Given the description of an element on the screen output the (x, y) to click on. 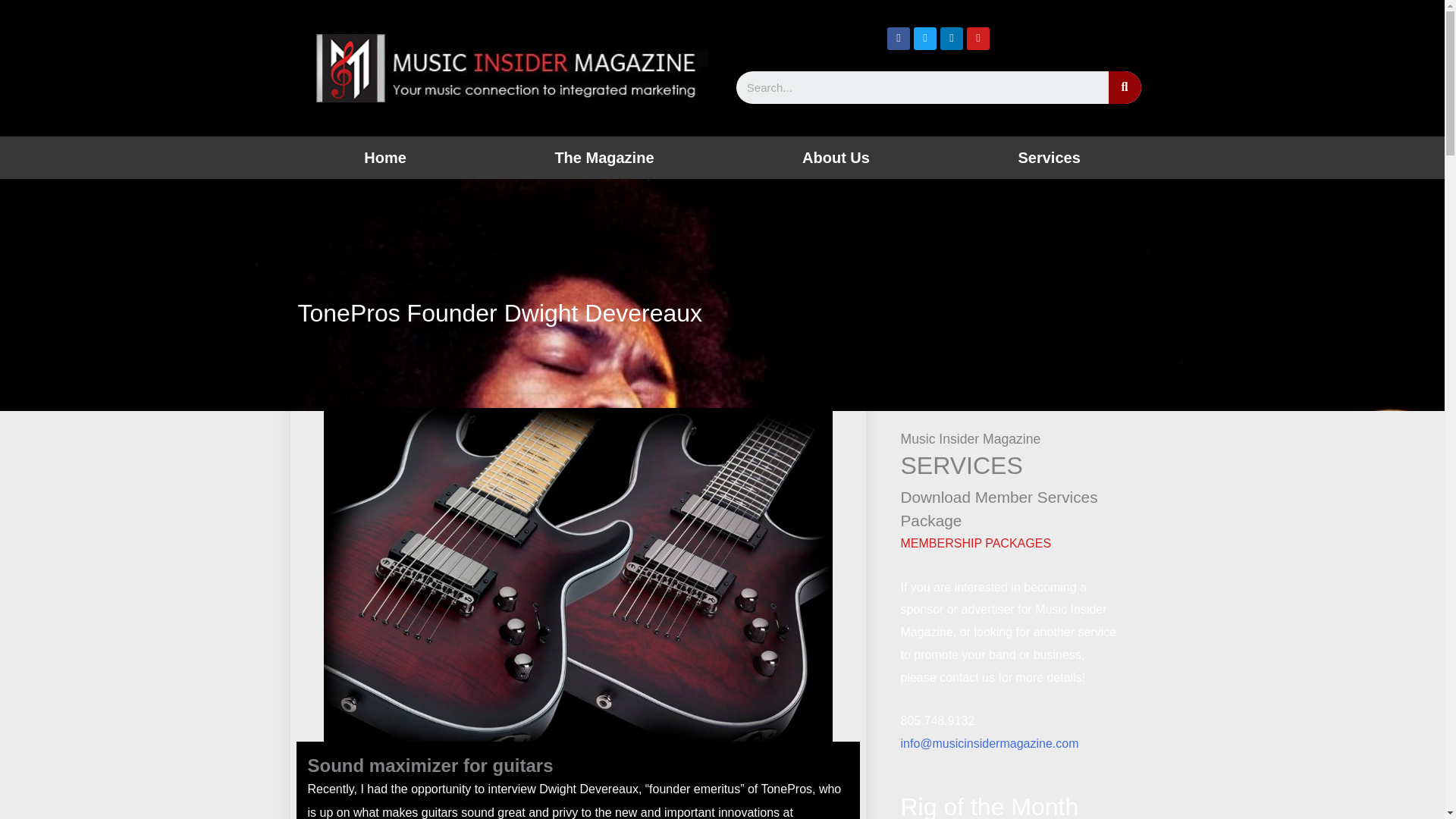
Search (921, 87)
Search (1124, 87)
Online Marketing Service (1048, 157)
MEMBERSHIP PACKAGES (975, 543)
The Magazine (604, 157)
Home (384, 157)
Services (1048, 157)
About Us (835, 157)
